Given the description of an element on the screen output the (x, y) to click on. 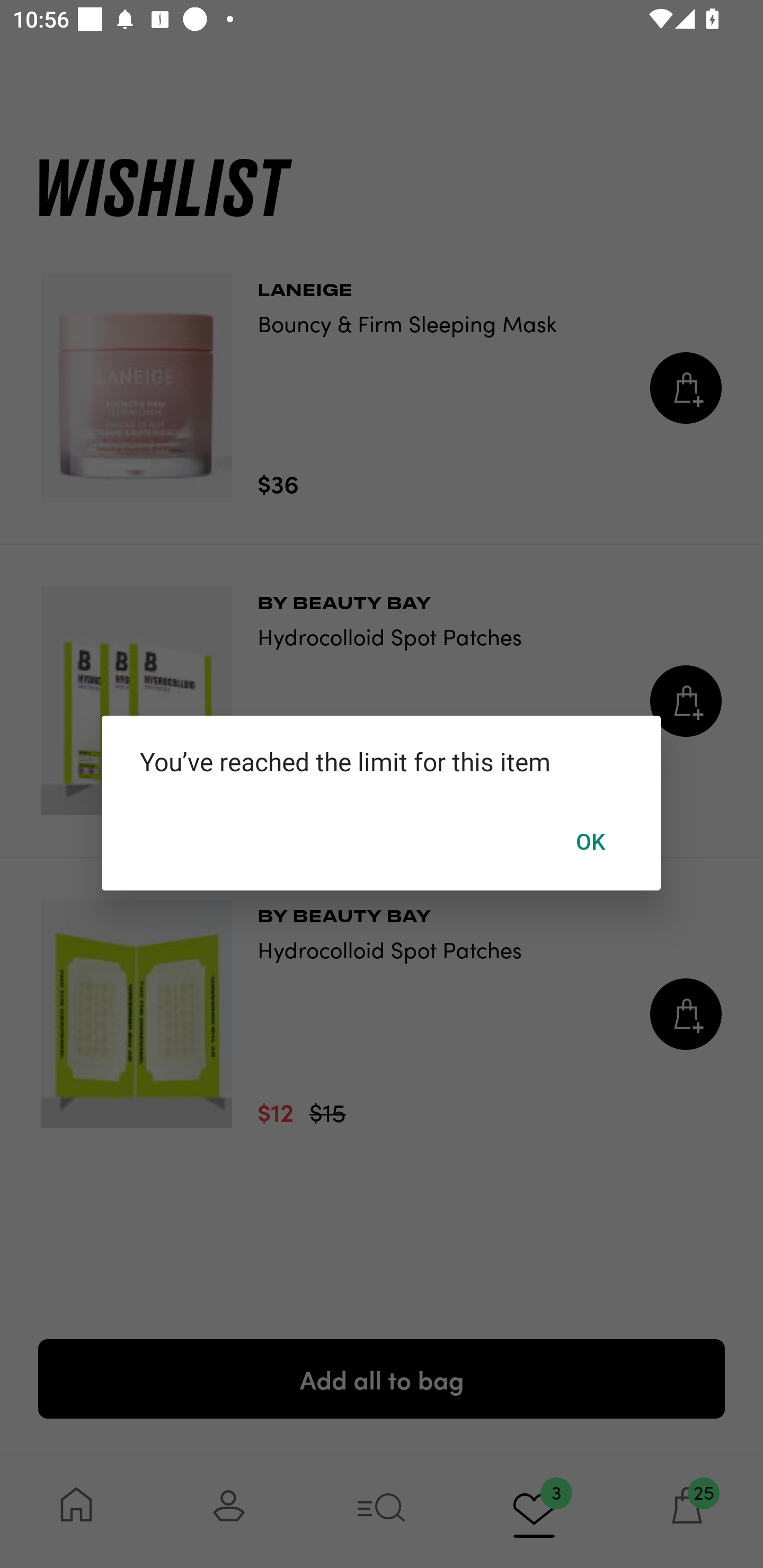
OK (590, 841)
